Given the description of an element on the screen output the (x, y) to click on. 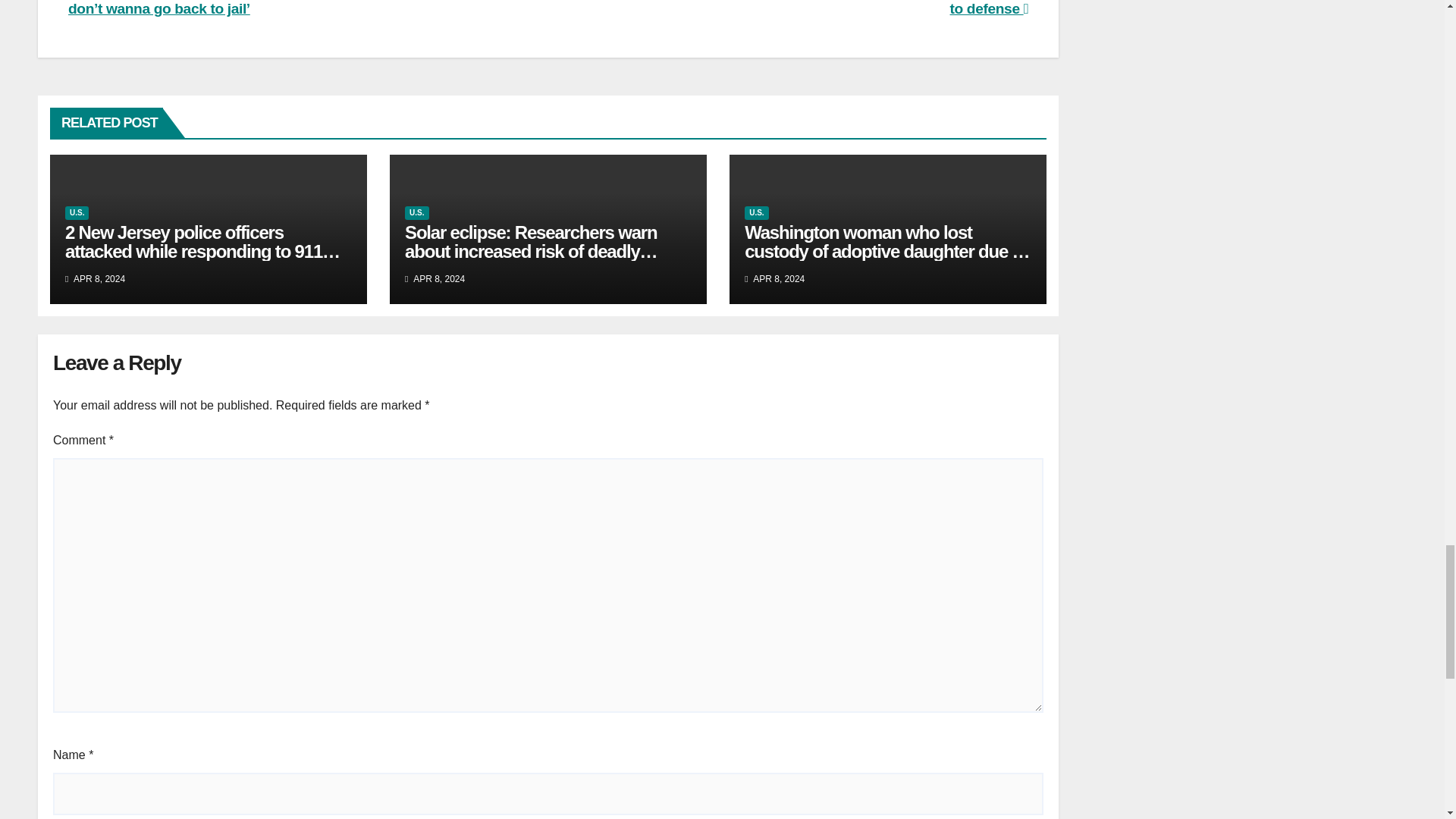
U.S. (76, 213)
U.S. (416, 213)
U.S. (756, 213)
